Given the description of an element on the screen output the (x, y) to click on. 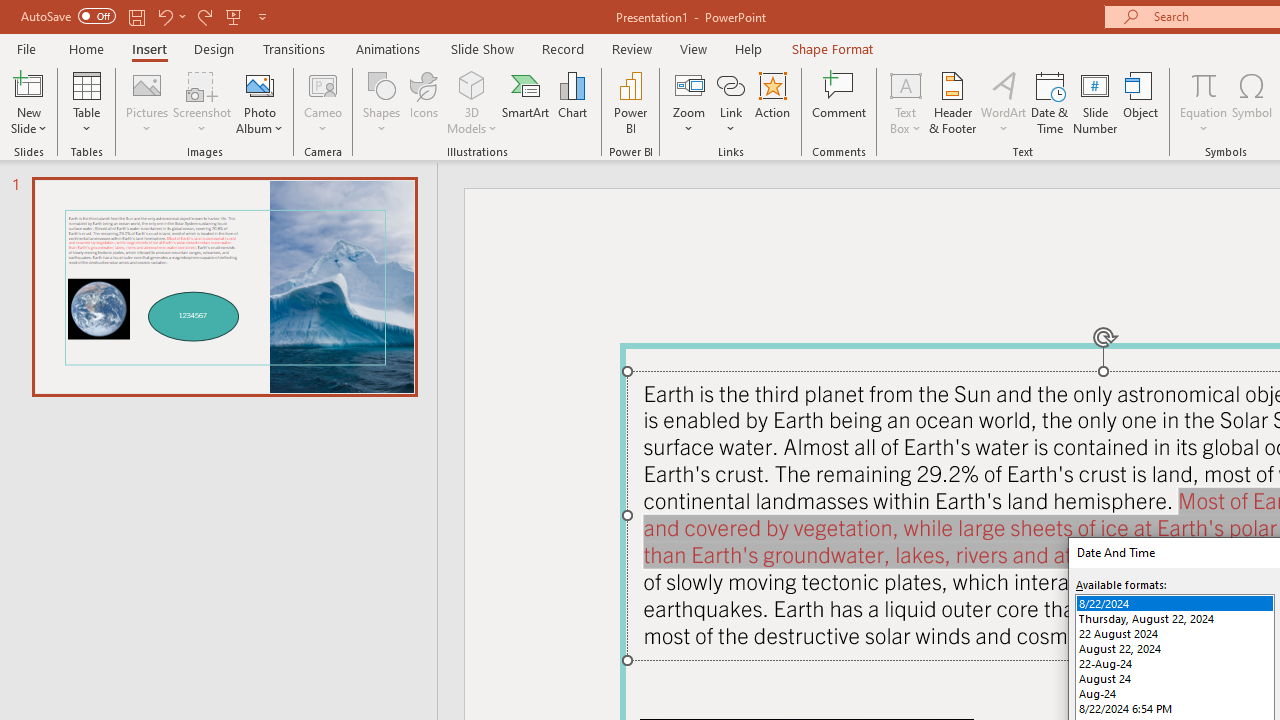
Table (86, 102)
8/22/2024 (1174, 603)
Screenshot (202, 102)
WordArt (1004, 102)
August 24 (1174, 678)
22-Aug-24 (1174, 663)
Slide Number (1095, 102)
August 22, 2024 (1174, 647)
